Given the description of an element on the screen output the (x, y) to click on. 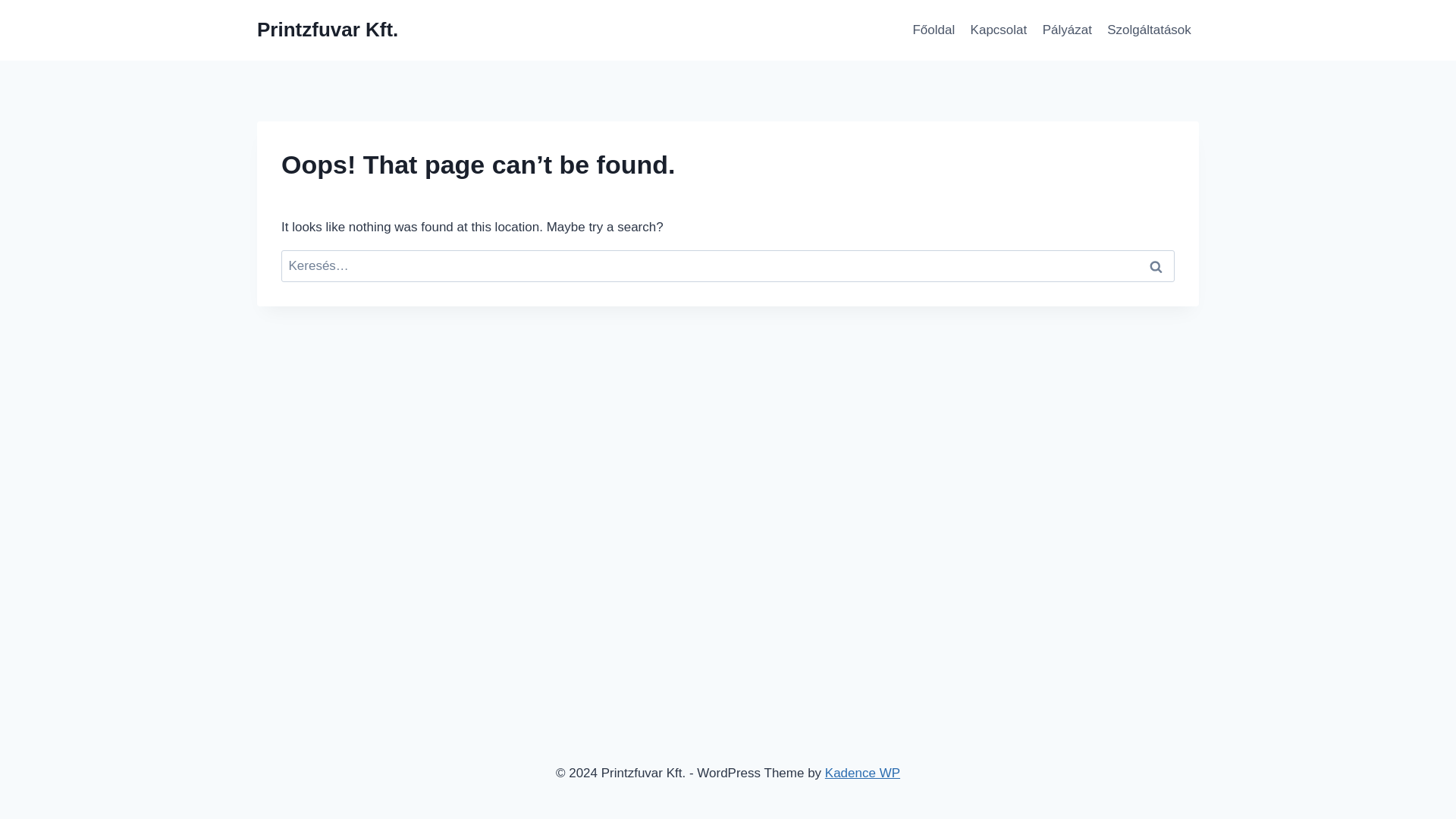
Printzfuvar Kft. (327, 29)
Kadence WP (862, 772)
Kapcsolat (997, 30)
